Given the description of an element on the screen output the (x, y) to click on. 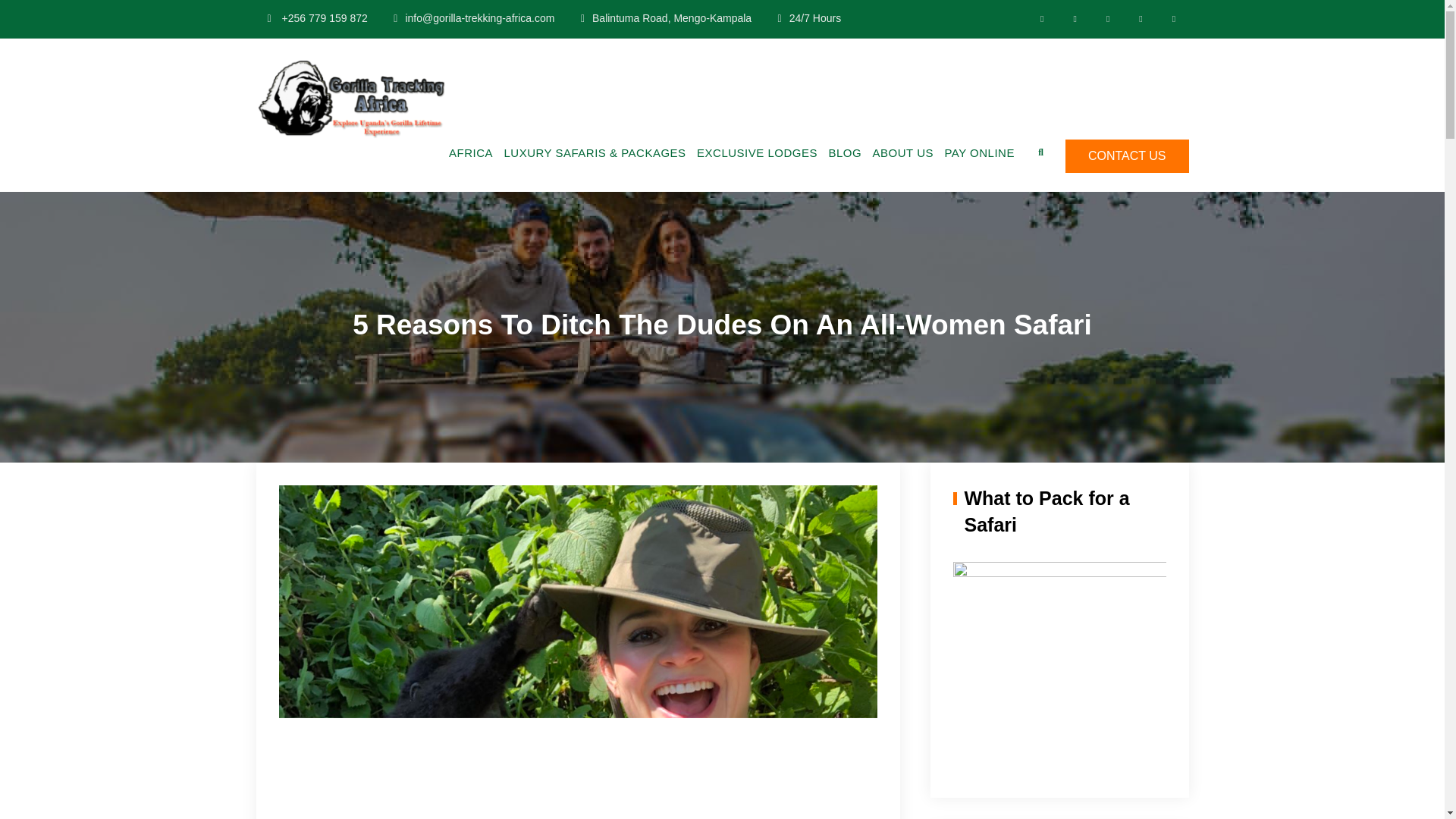
Luxury Gorilla Trekking Africa (598, 80)
AFRICA (470, 153)
twi (1074, 17)
Fac (1042, 17)
goo (1107, 17)
lin (1140, 17)
Instagram (1173, 17)
